Given the description of an element on the screen output the (x, y) to click on. 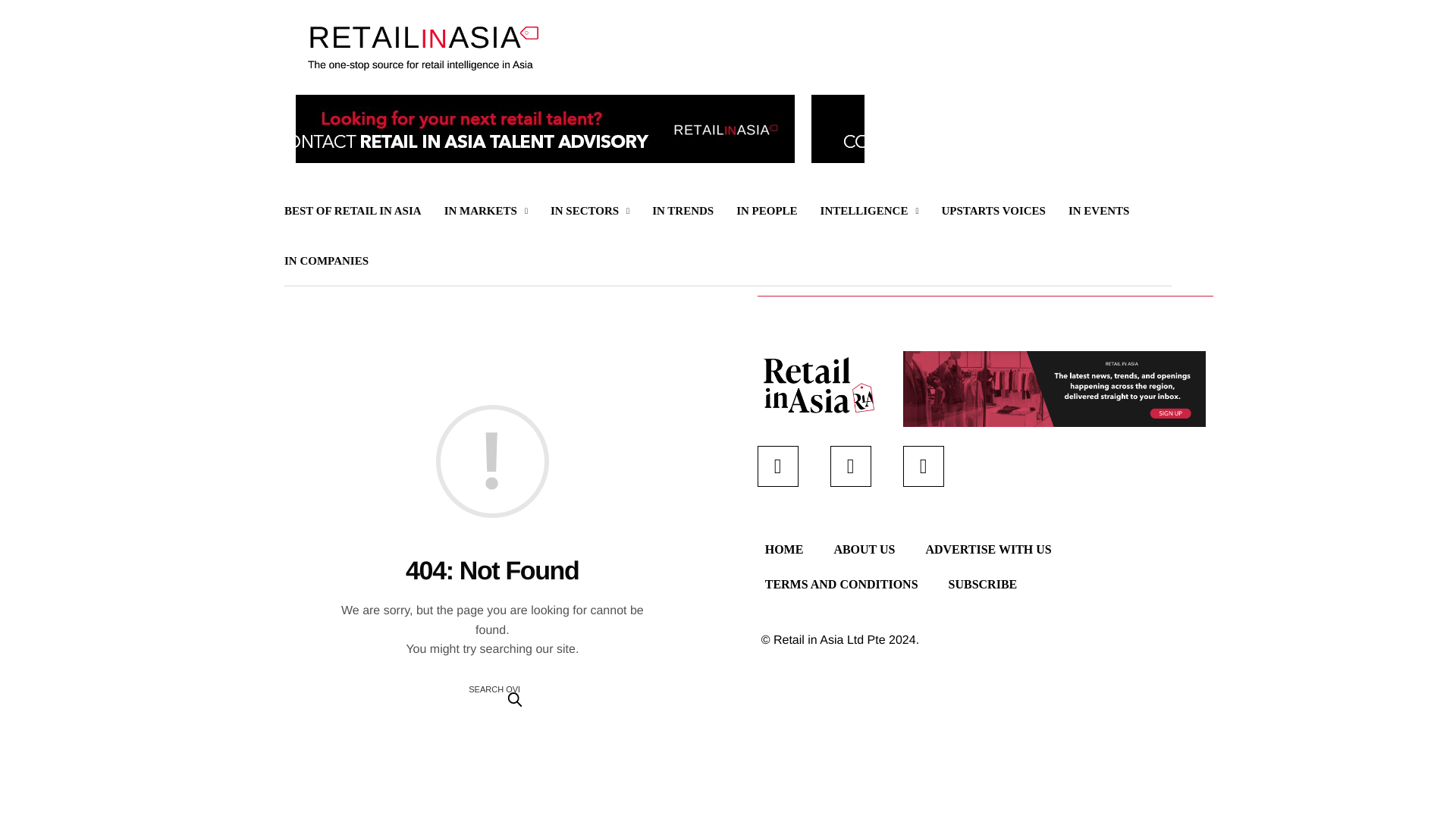
BEST OF RETAIL IN ASIA (352, 210)
Search (514, 698)
IN MARKETS (485, 210)
